Given the description of an element on the screen output the (x, y) to click on. 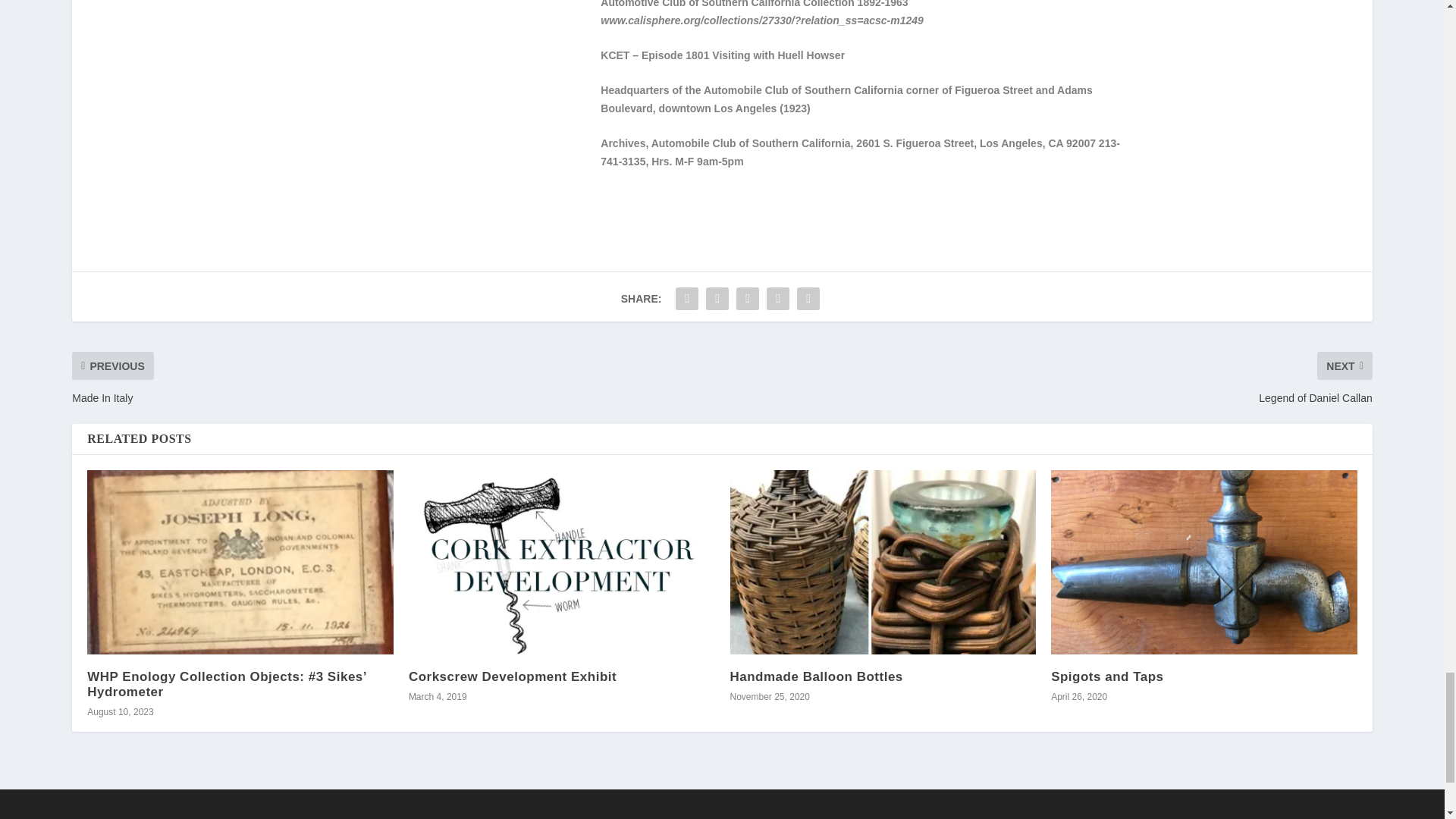
Share "AAA Mapping Tourism in California" via Facebook (686, 298)
Share "AAA Mapping Tourism in California" via Email (777, 298)
Share "AAA Mapping Tourism in California" via Pinterest (747, 298)
Share "AAA Mapping Tourism in California" via Twitter (716, 298)
